Given the description of an element on the screen output the (x, y) to click on. 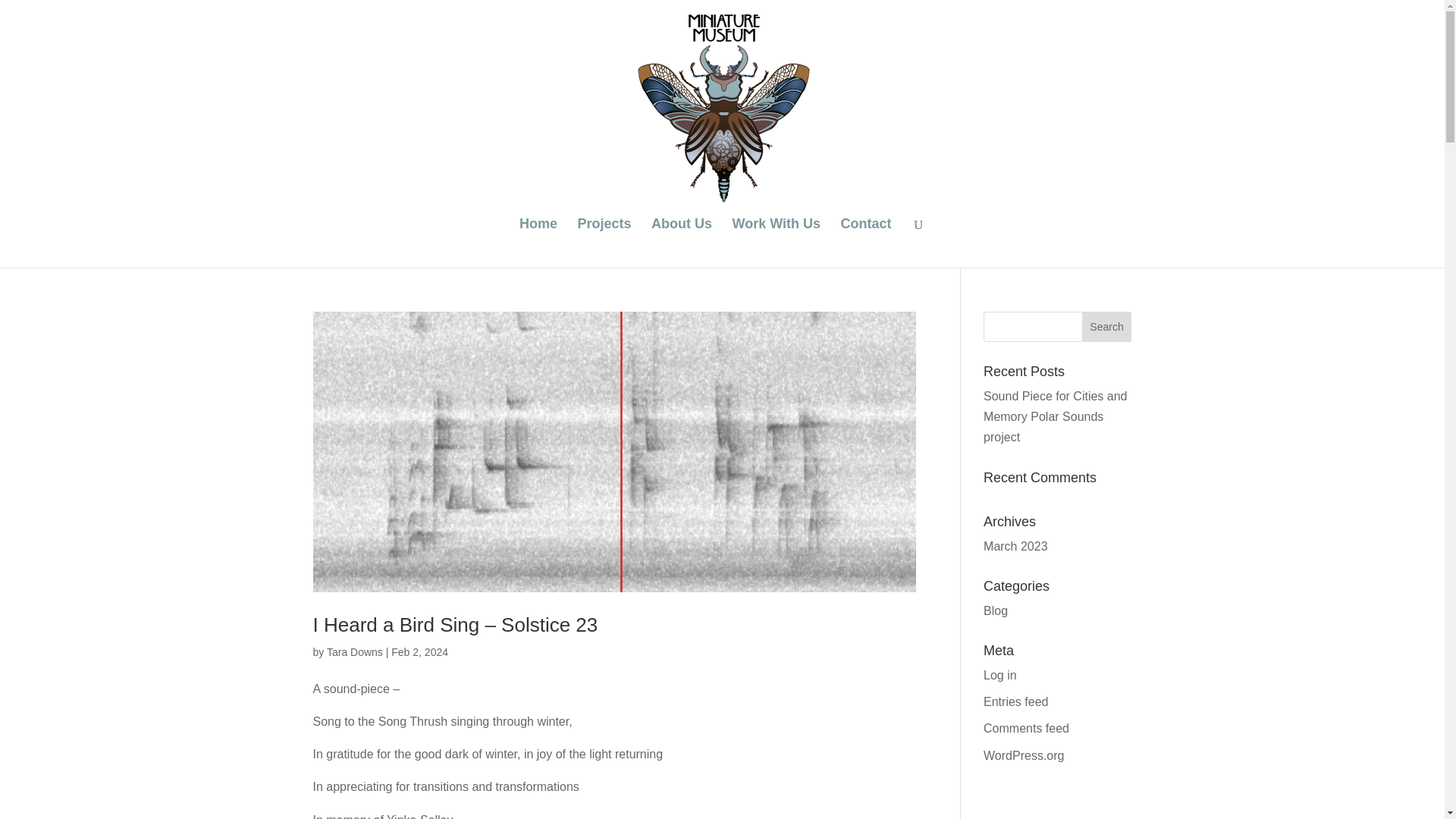
Log in (1000, 675)
Entries feed (1016, 701)
WordPress.org (1024, 755)
Contact (865, 242)
Tara Downs (354, 652)
Comments feed (1026, 727)
Search (1106, 327)
Projects (604, 242)
About Us (680, 242)
March 2023 (1016, 545)
Posts by Tara Downs (354, 652)
Blog (995, 610)
Sound Piece for Cities and Memory Polar Sounds project (1055, 416)
Search (1106, 327)
Work With Us (776, 242)
